Given the description of an element on the screen output the (x, y) to click on. 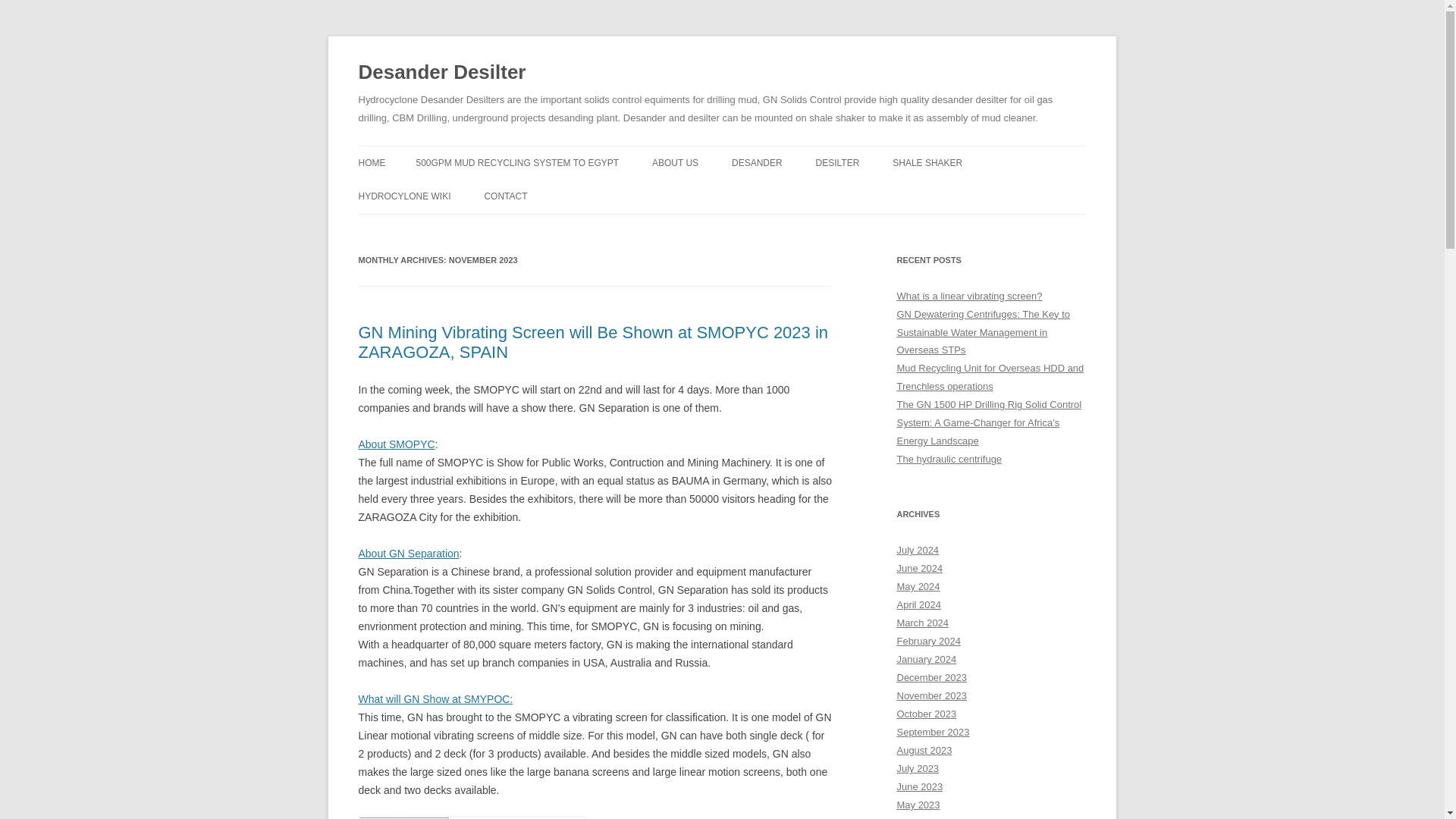
The hydraulic centrifuge (948, 459)
June 2024 (919, 568)
November 2023 (931, 695)
March 2024 (922, 622)
What is a linear vibrating screen? (969, 296)
About SMOPYC (395, 444)
January 2024 (926, 659)
October 2023 (926, 713)
HYDROCYLONE WIKI (403, 195)
April 2024 (918, 604)
February 2024 (927, 641)
DESANDER (757, 162)
ABOUT US (675, 162)
